Given the description of an element on the screen output the (x, y) to click on. 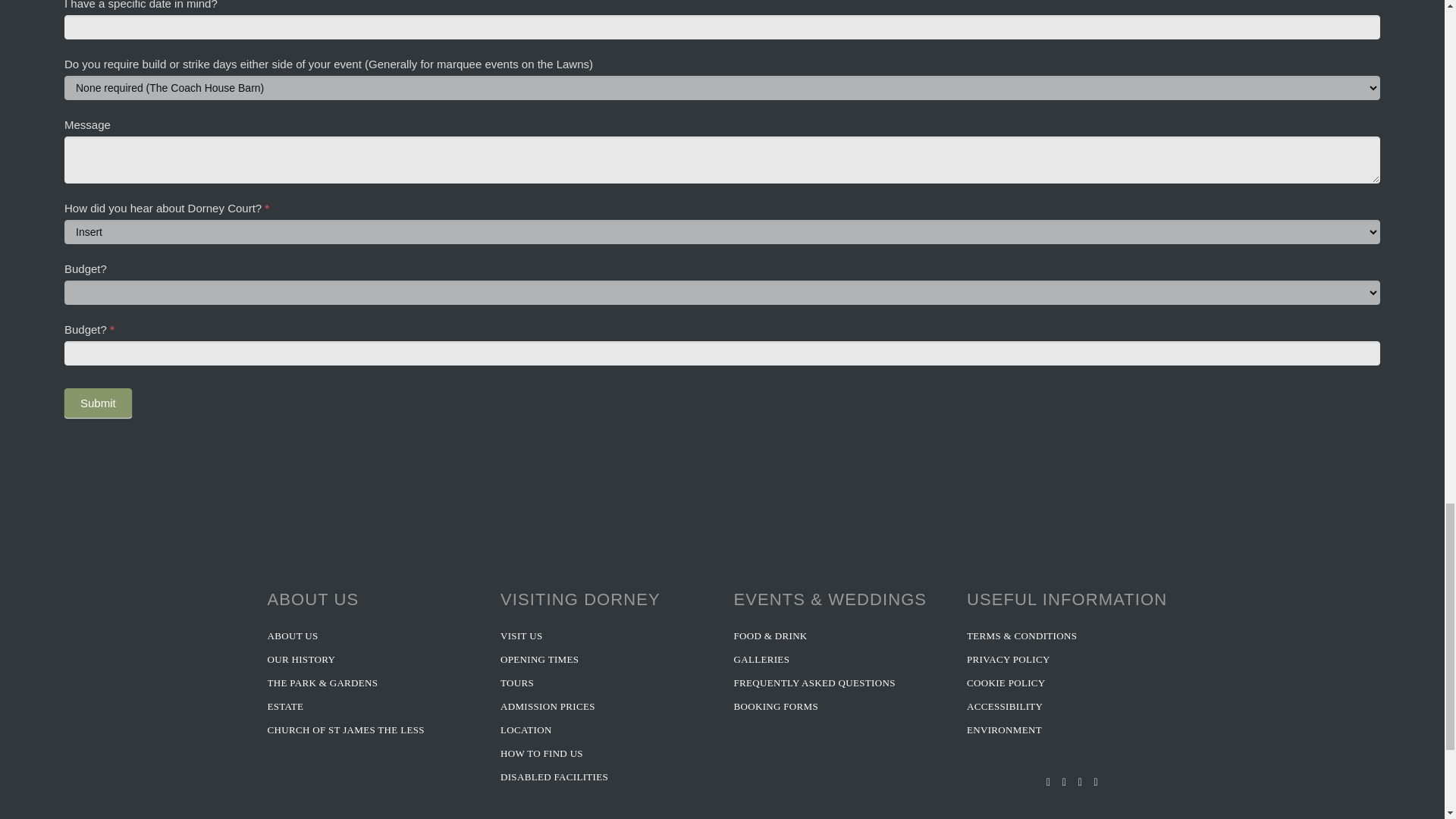
Submit (98, 402)
